Given the description of an element on the screen output the (x, y) to click on. 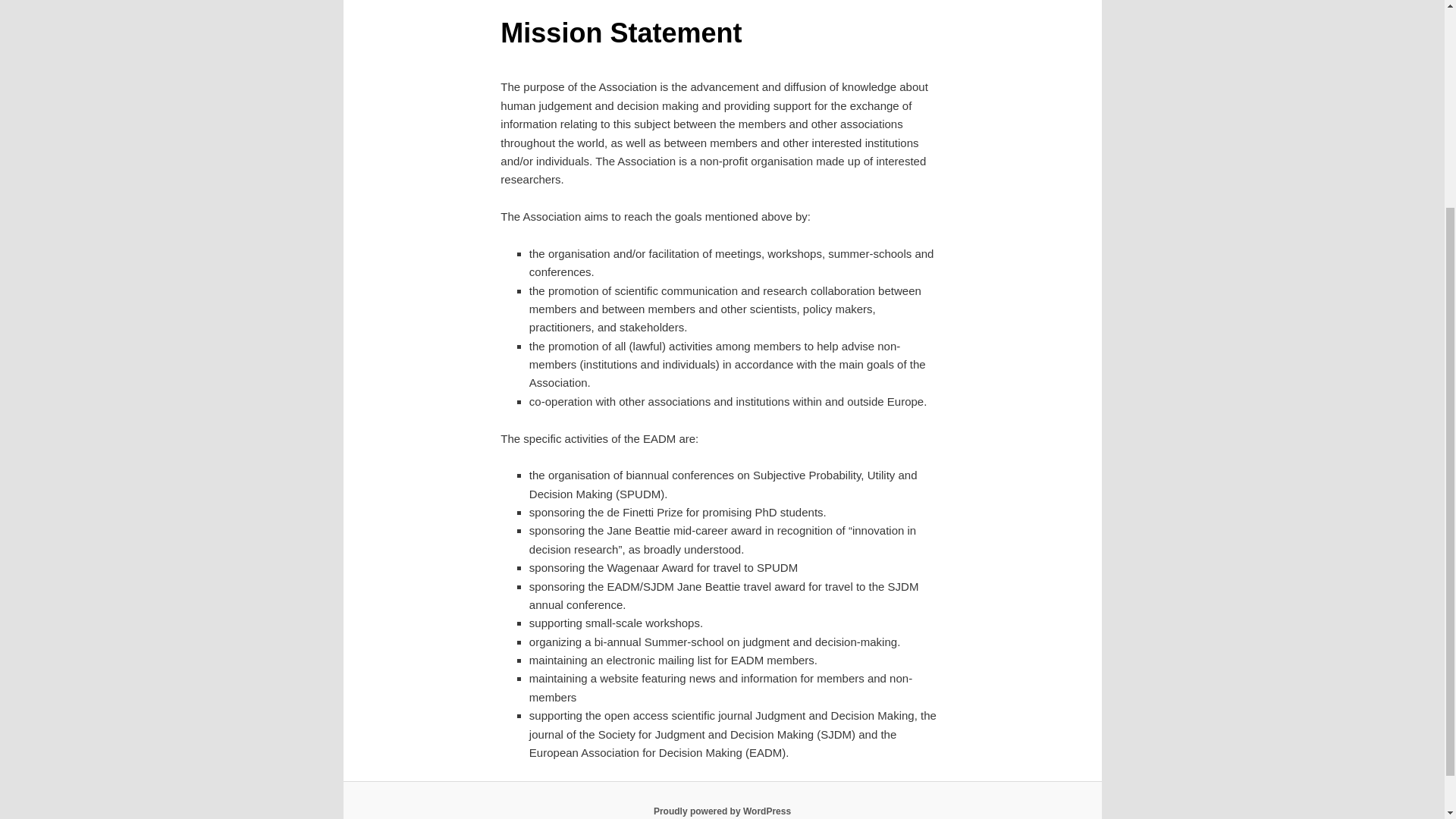
Proudly powered by WordPress (721, 810)
Semantic Personal Publishing Platform (721, 810)
